Given the description of an element on the screen output the (x, y) to click on. 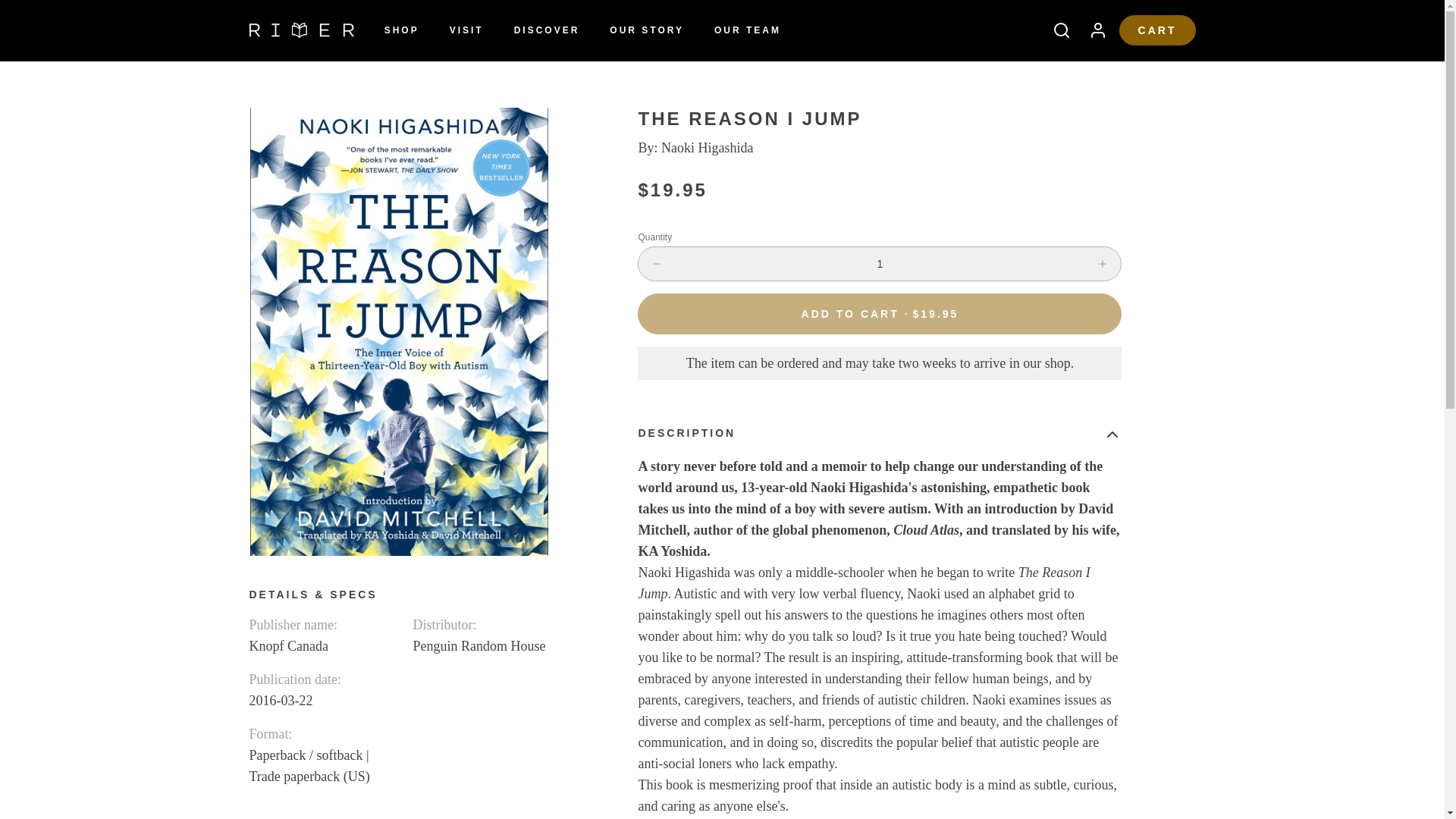
Decrease quantity (657, 263)
Search (1055, 30)
1 (879, 263)
VISIT (467, 30)
River Bookshop (300, 29)
OUR TEAM (747, 30)
OUR STORY (645, 30)
CART (1157, 30)
SHOP (401, 30)
 Log in (1091, 30)
DISCOVER (547, 30)
Increase quantity (1102, 263)
